Given the description of an element on the screen output the (x, y) to click on. 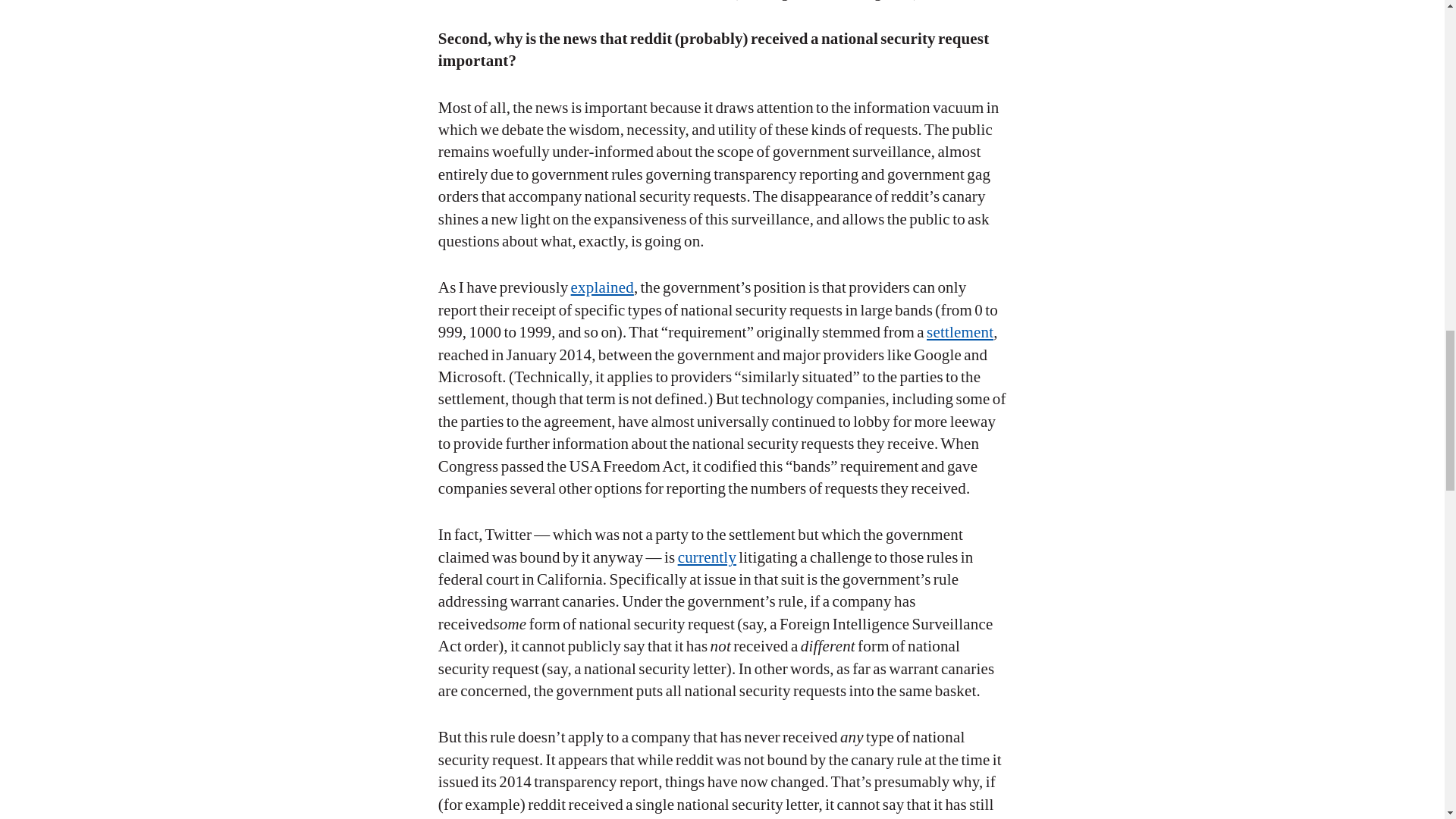
explained (601, 287)
settlement (959, 331)
currently (707, 556)
